Given the description of an element on the screen output the (x, y) to click on. 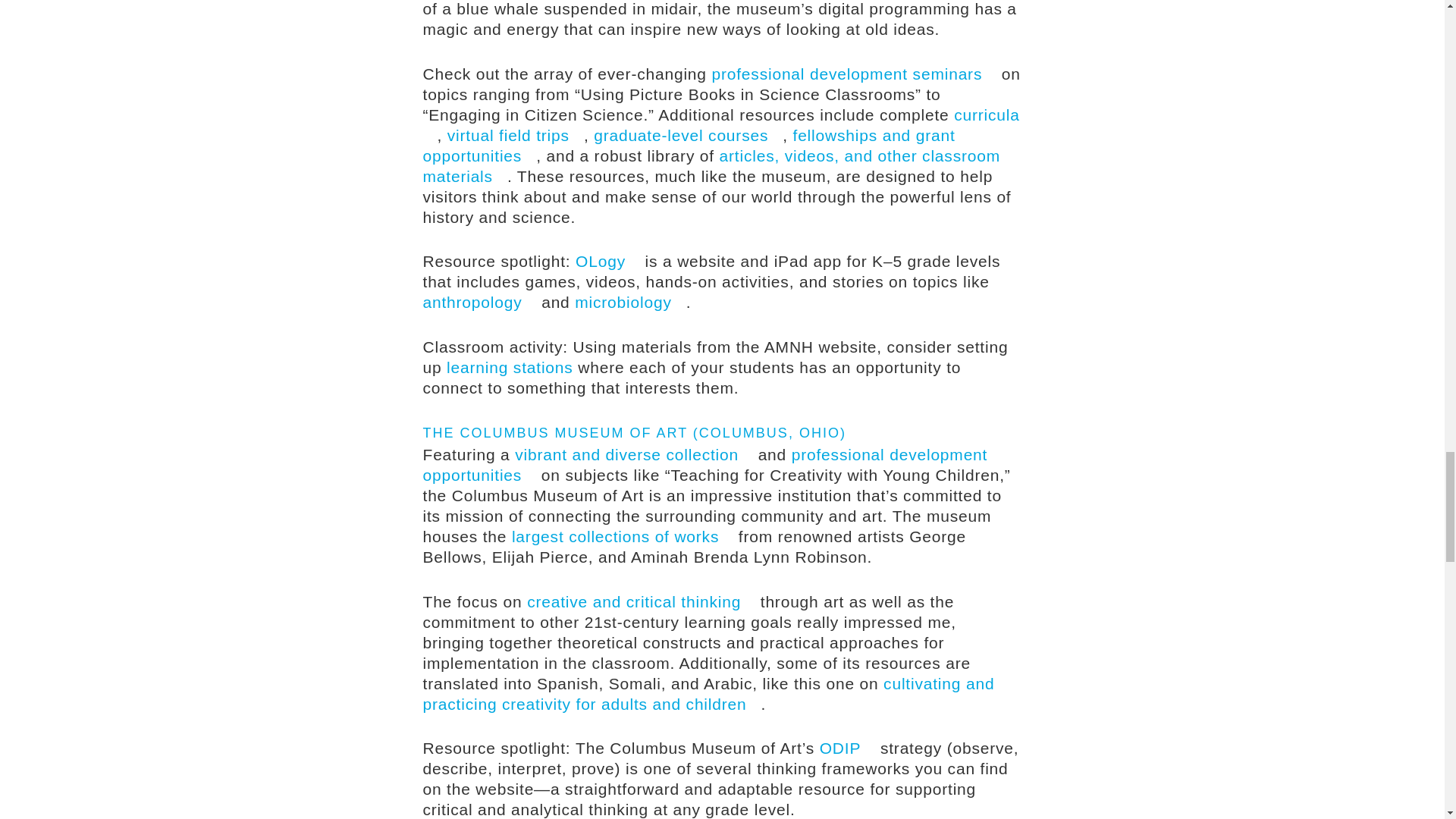
virtual field trips (514, 135)
curricula (721, 125)
professional development seminars (853, 73)
